Given the description of an element on the screen output the (x, y) to click on. 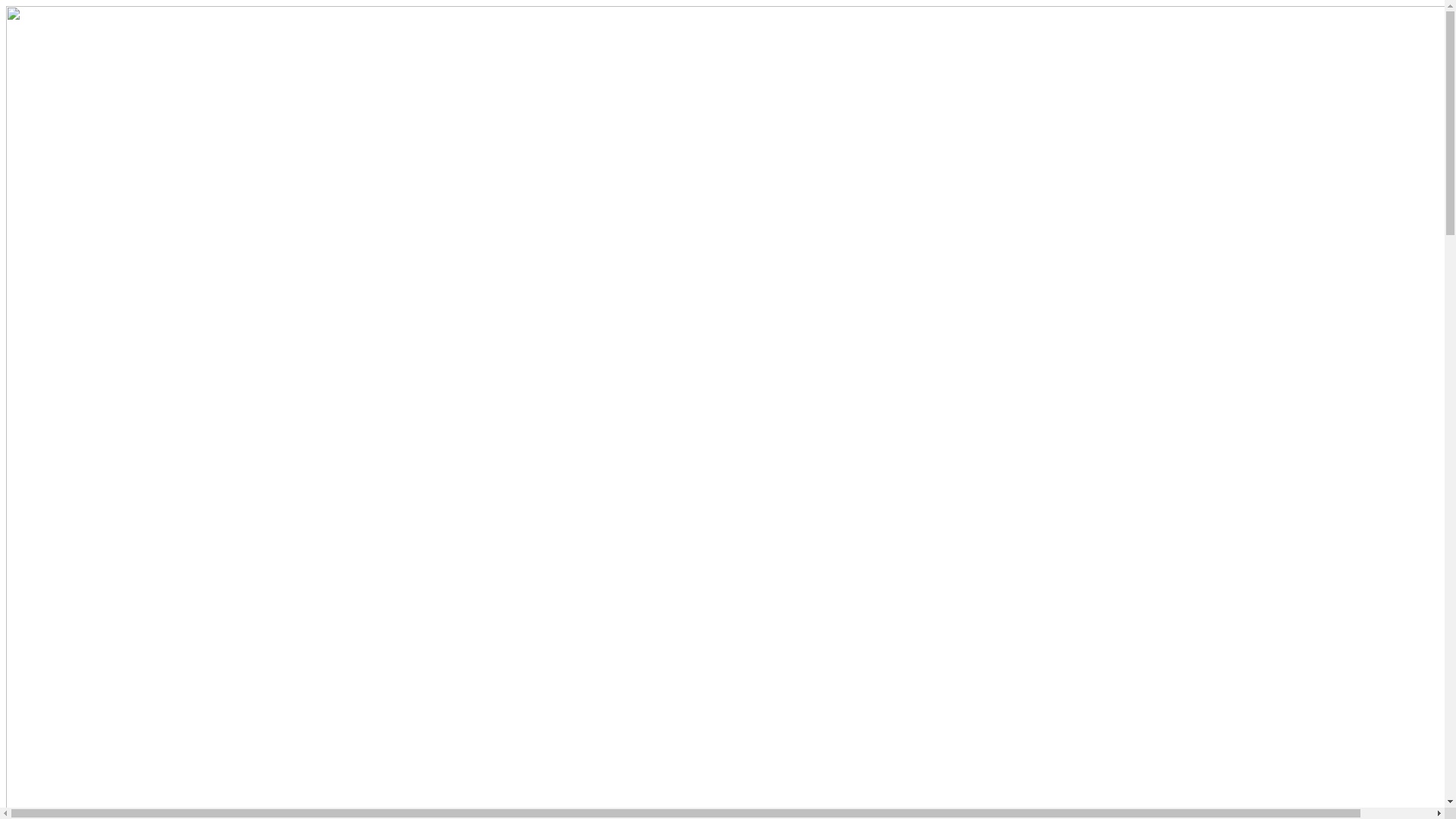
Skip to content Element type: text (5, 5)
